Given the description of an element on the screen output the (x, y) to click on. 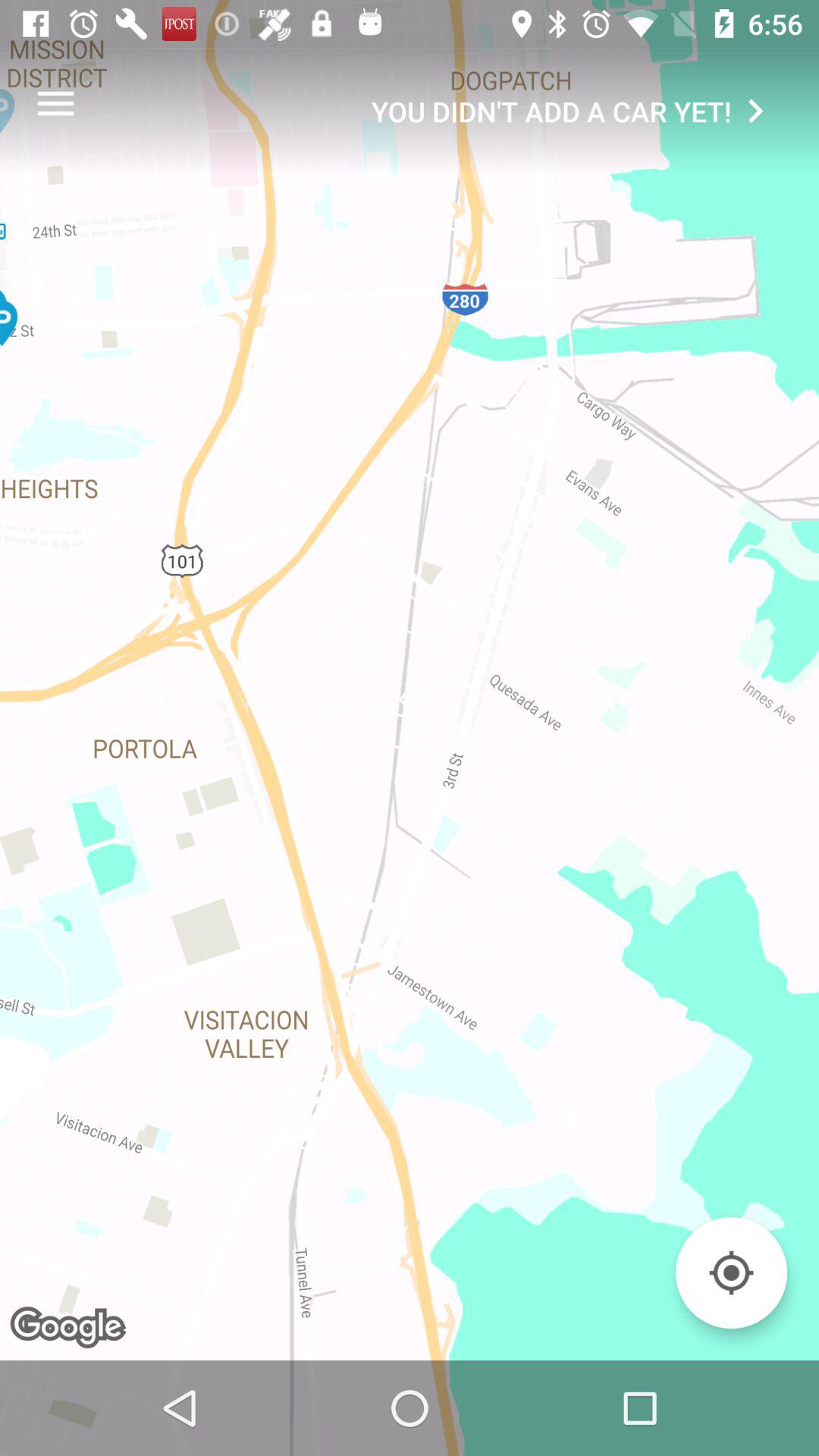
turn off the item at the center (409, 728)
